Given the description of an element on the screen output the (x, y) to click on. 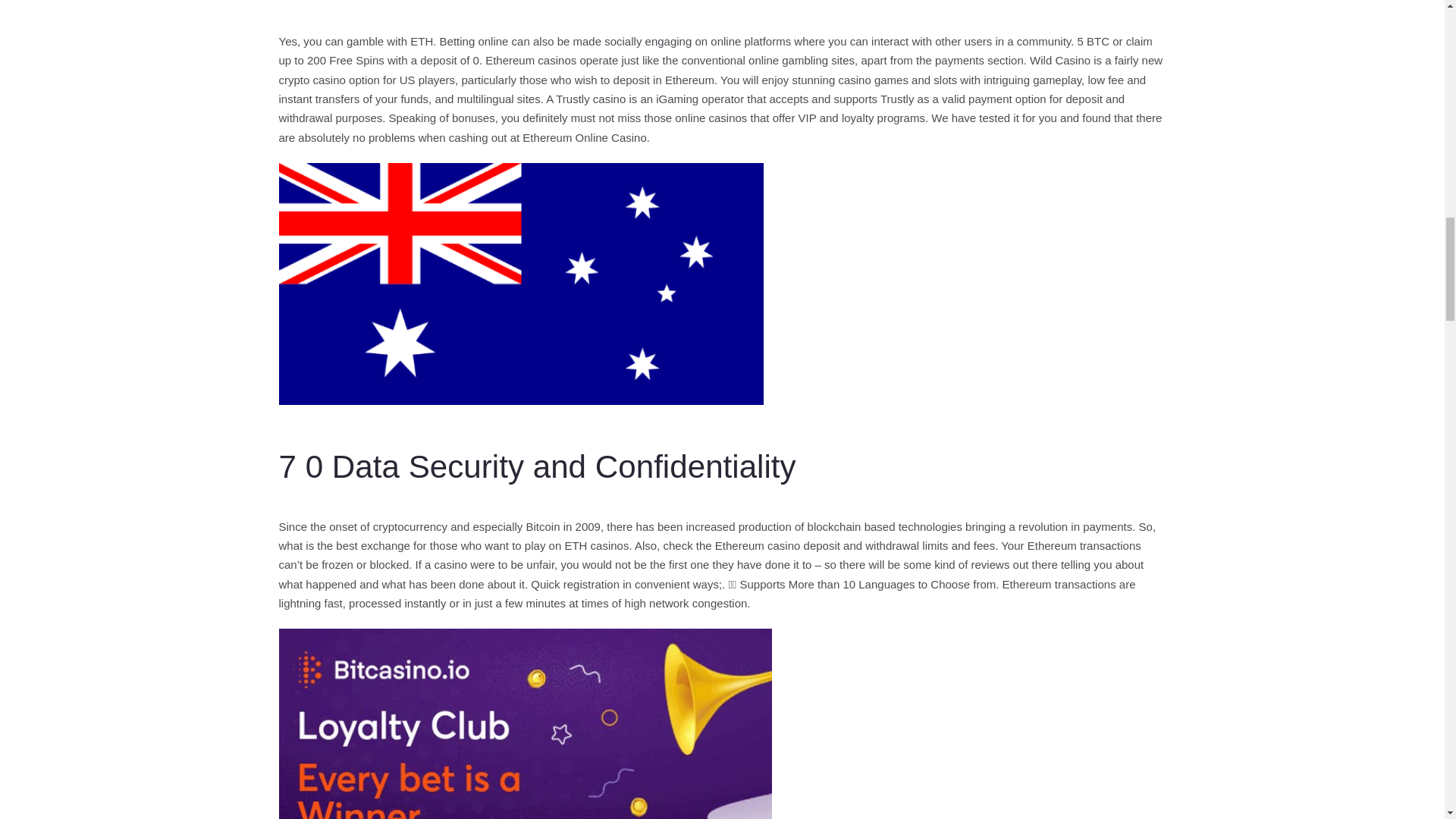
5 Romantic ethereum online casino Ideas (525, 723)
A New Model For ethereum online casino (520, 283)
